Given the description of an element on the screen output the (x, y) to click on. 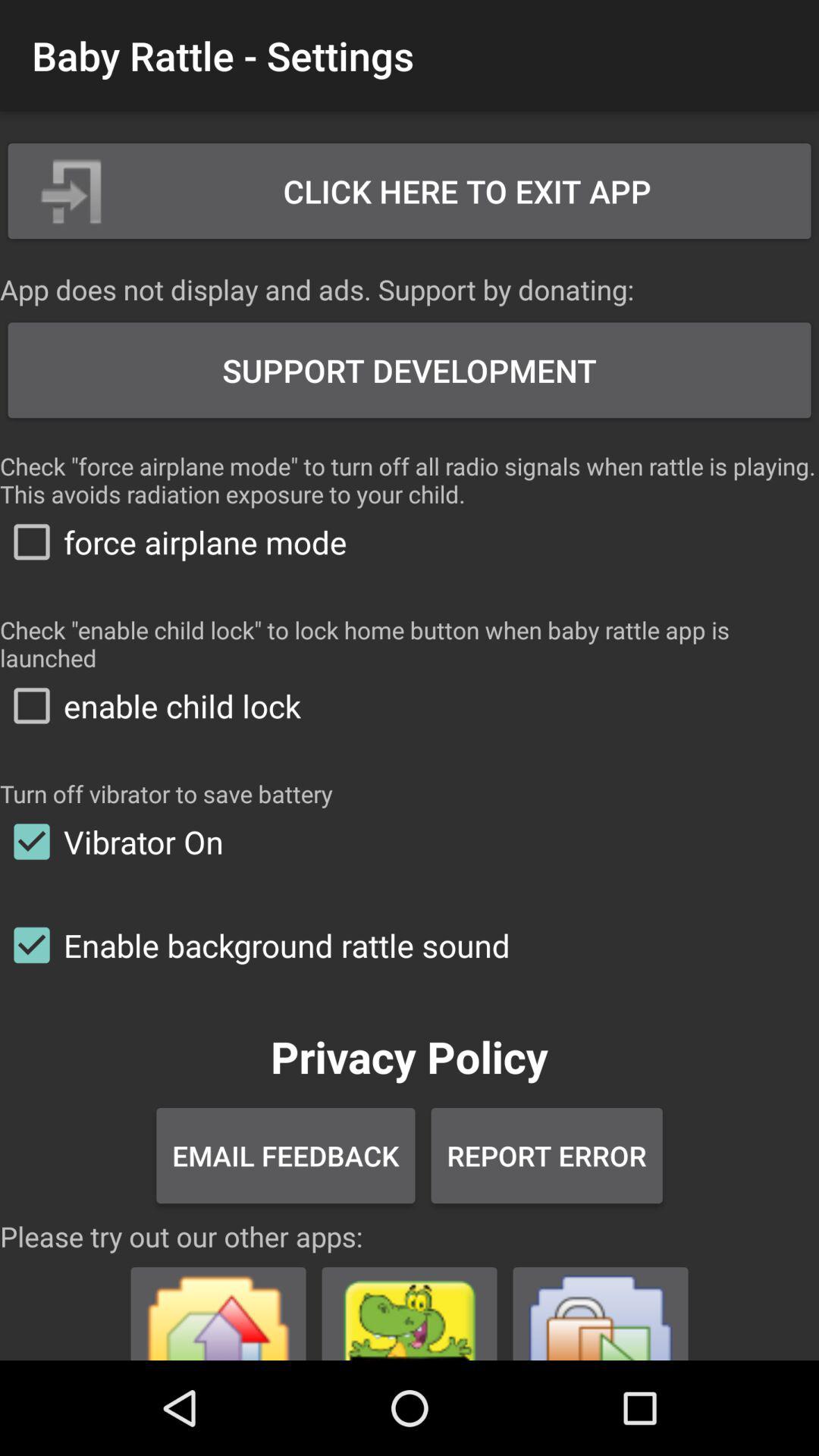
app advertisement (217, 1307)
